Given the description of an element on the screen output the (x, y) to click on. 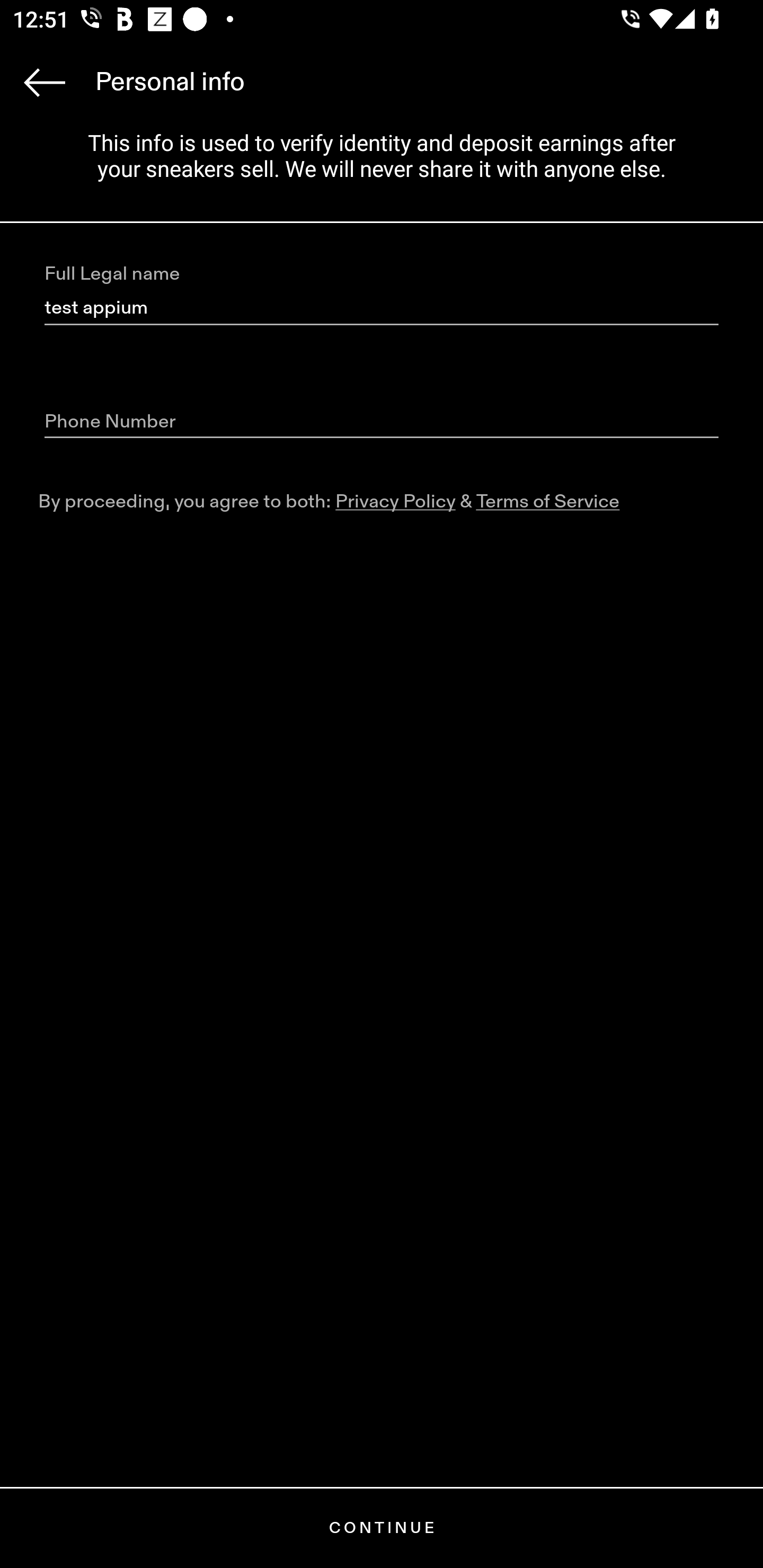
Navigate up (44, 82)
test appium (381, 308)
Phone Number (381, 422)
CONTINUE (381, 1528)
